Given the description of an element on the screen output the (x, y) to click on. 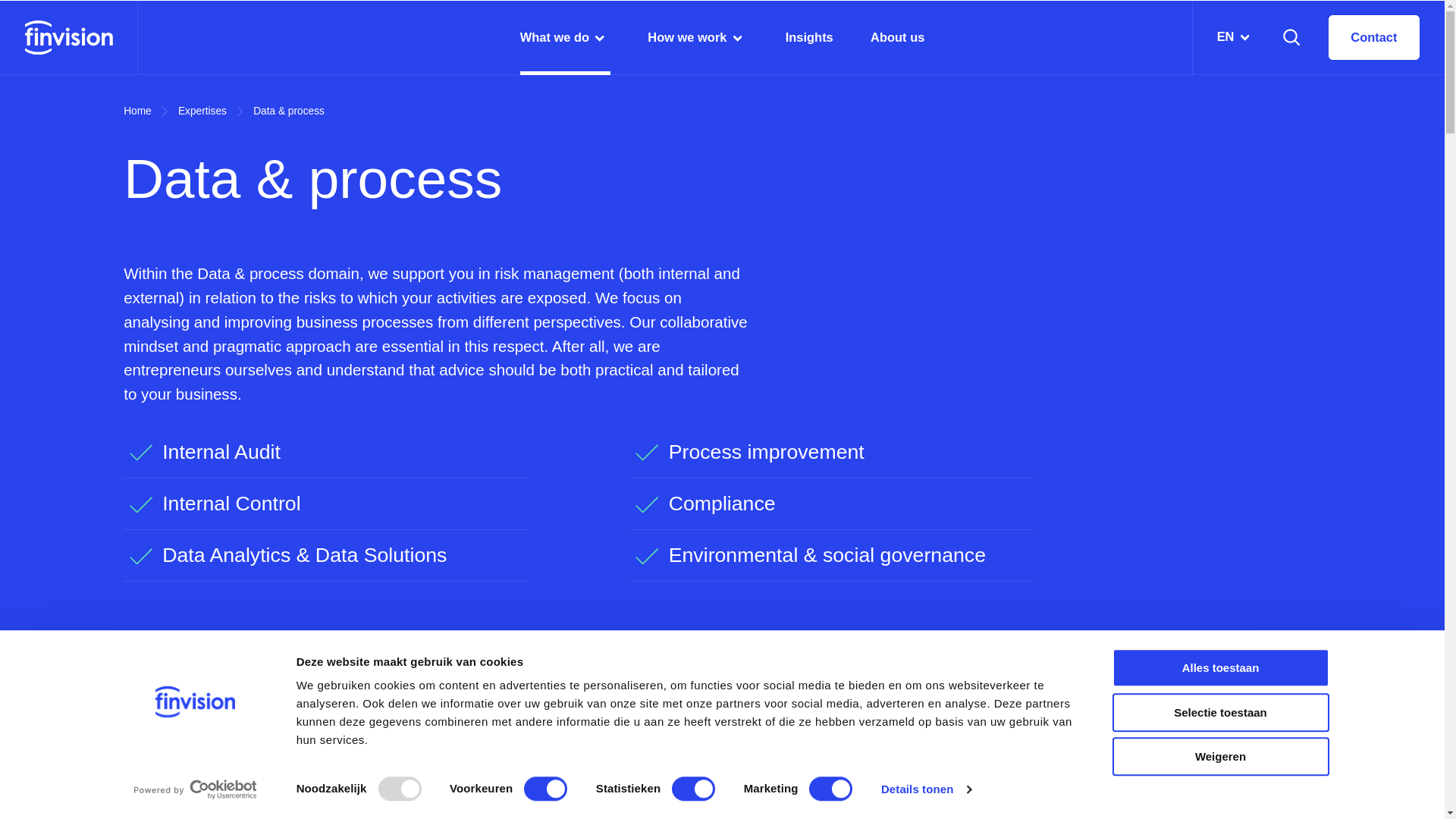
Selectie toestaan (1219, 712)
Weigeren (1219, 756)
Skip and go to content (77, 11)
Alles toestaan (1219, 667)
Details tonen (925, 789)
